Given the description of an element on the screen output the (x, y) to click on. 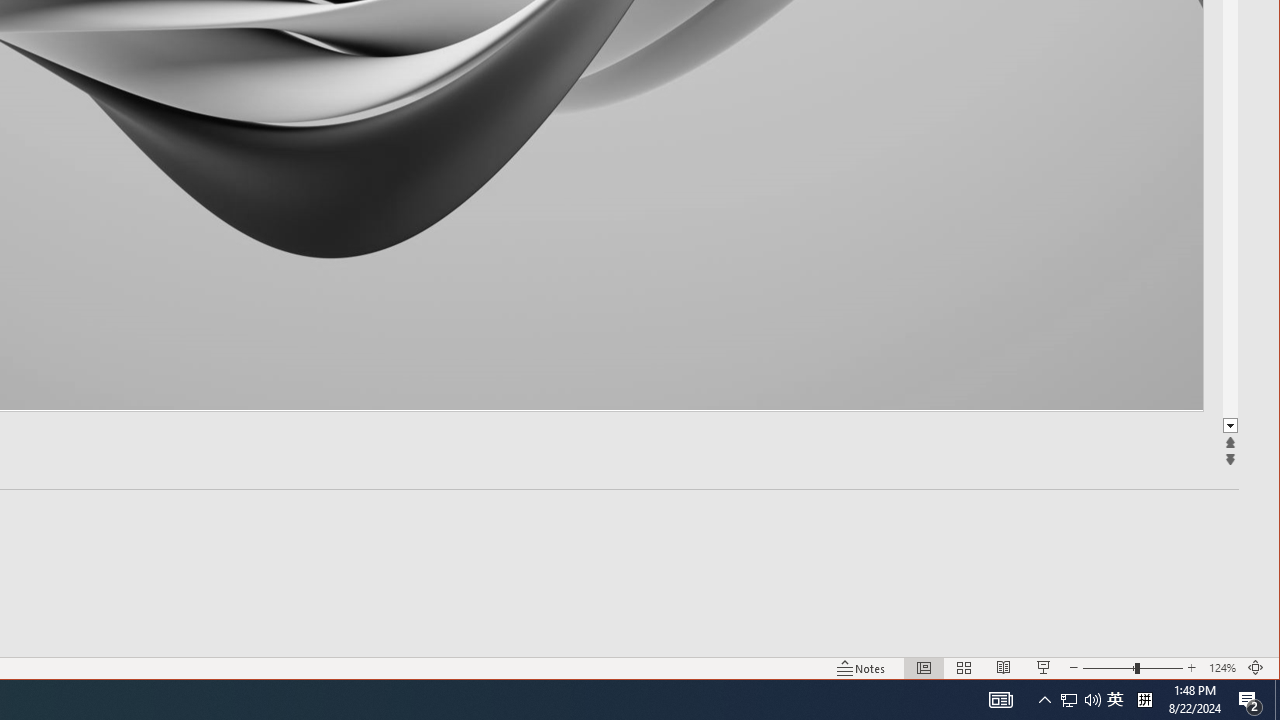
Zoom 124% (1222, 668)
